Given the description of an element on the screen output the (x, y) to click on. 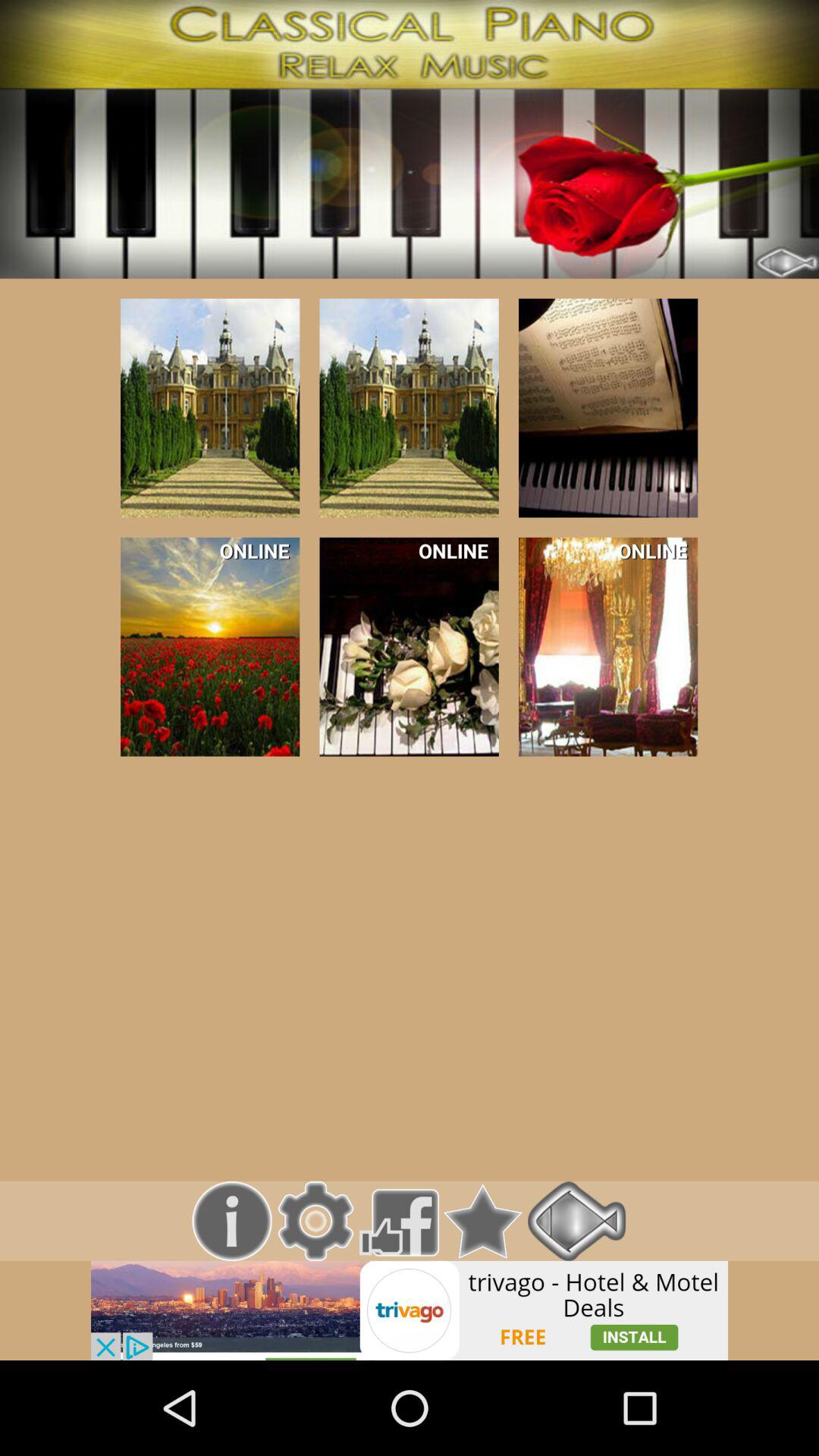
select the image (209, 407)
